Given the description of an element on the screen output the (x, y) to click on. 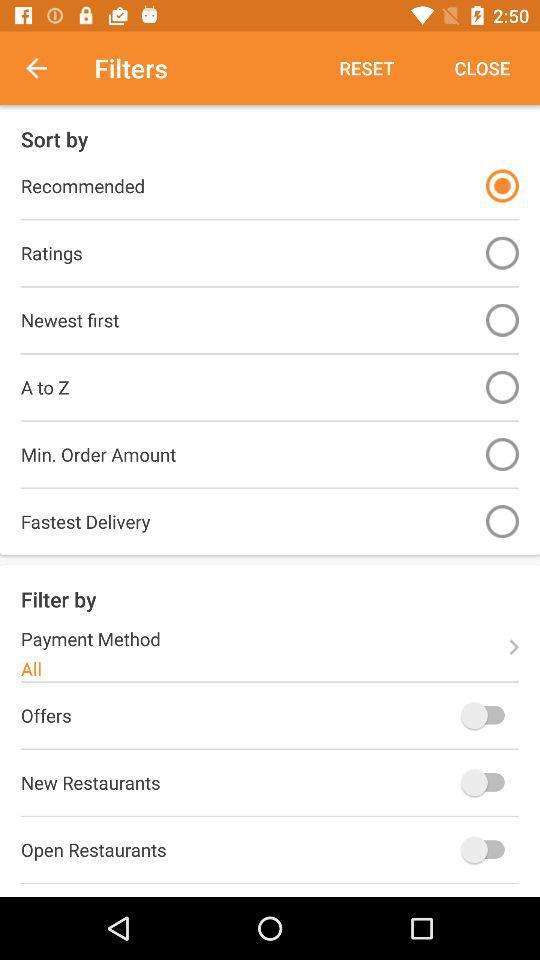
toggle newest first on (502, 319)
